Given the description of an element on the screen output the (x, y) to click on. 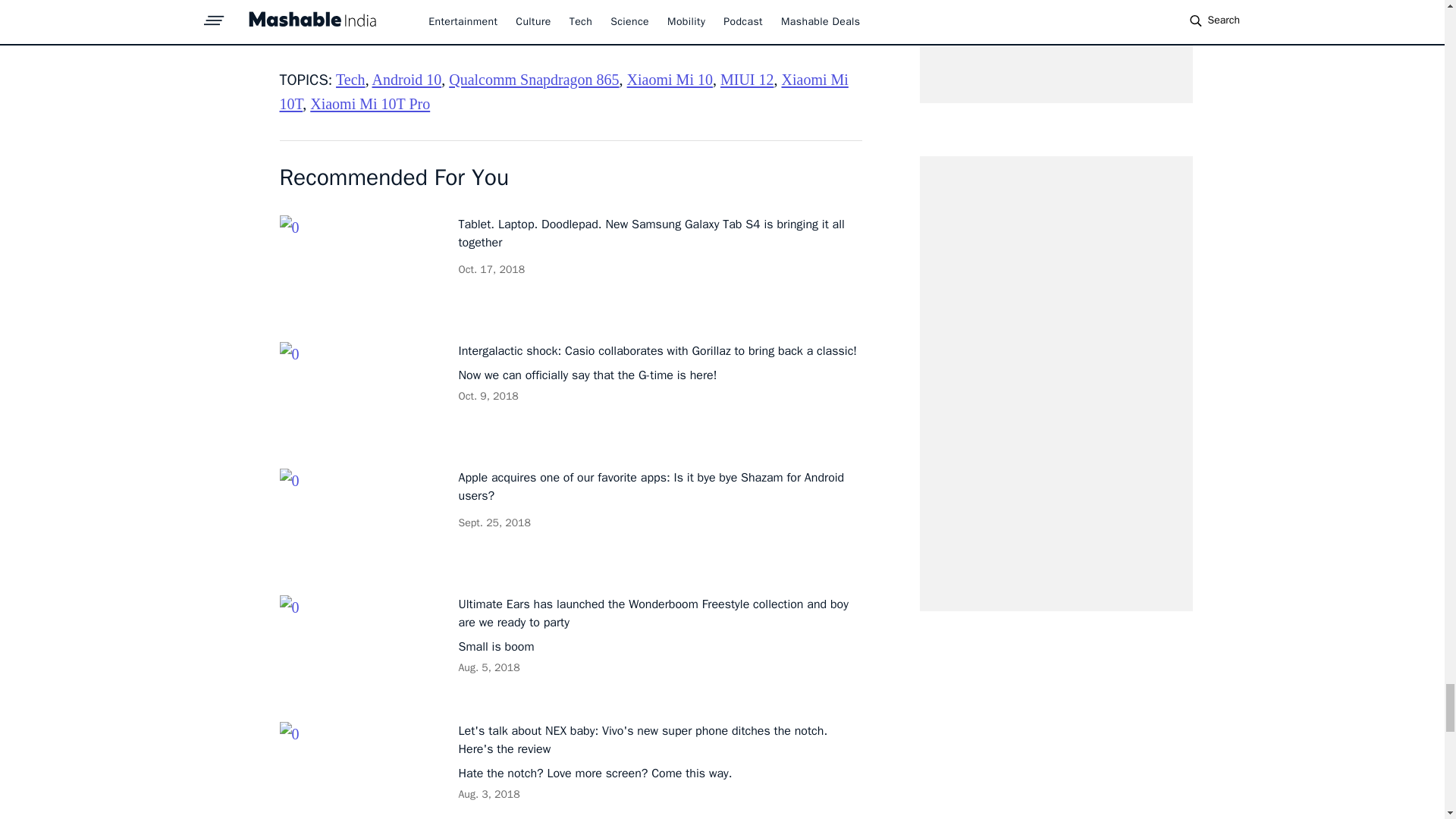
Xiaomi Mi 10T (563, 91)
Xiaomi Mi 10 (670, 79)
Qualcomm Snapdragon 865 (533, 79)
Tech (350, 79)
Xiaomi Mi 10T Pro (369, 103)
MIUI 12 (747, 79)
Android 10 (407, 79)
